Given the description of an element on the screen output the (x, y) to click on. 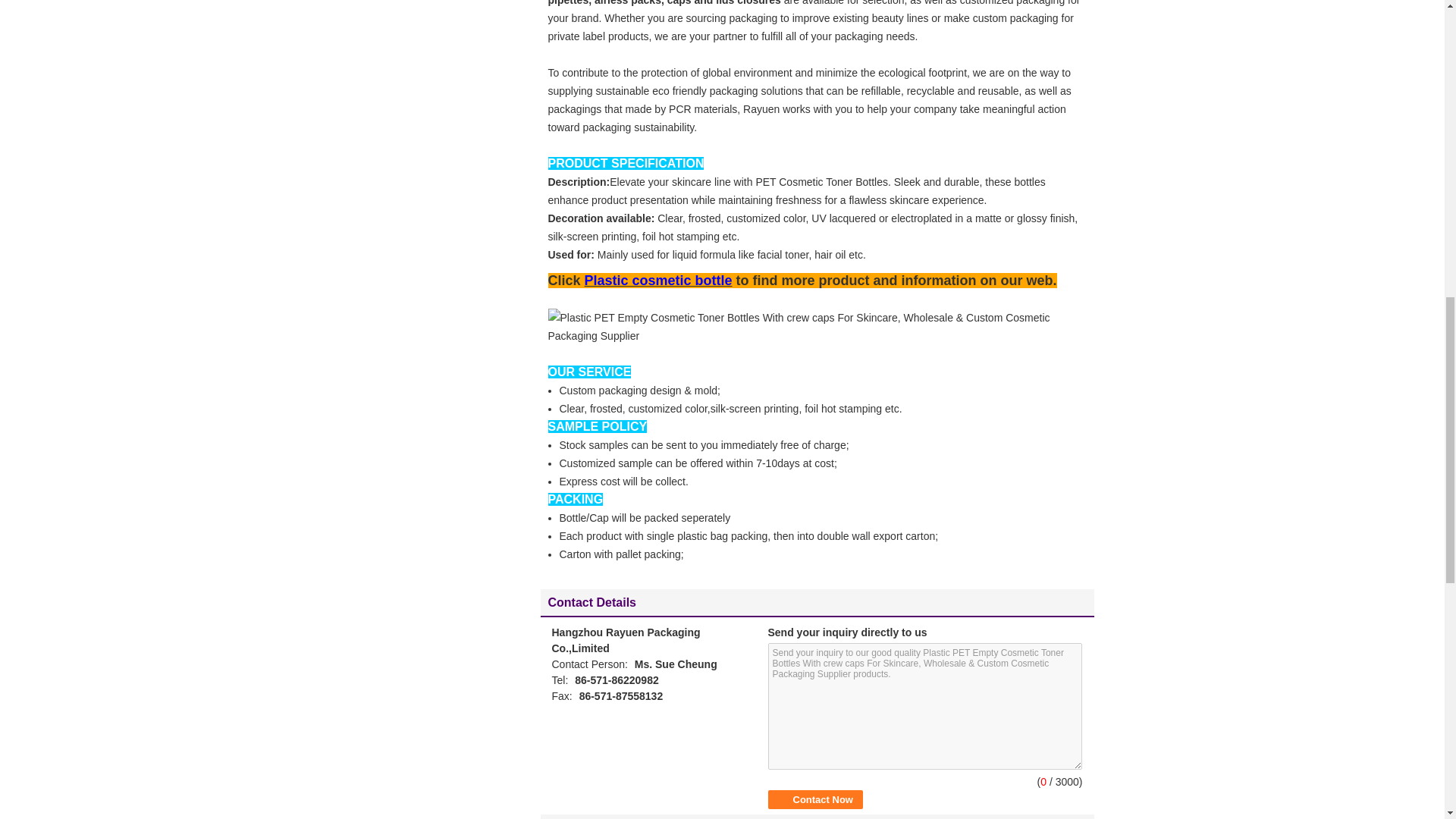
Contact Now (814, 799)
